Given the description of an element on the screen output the (x, y) to click on. 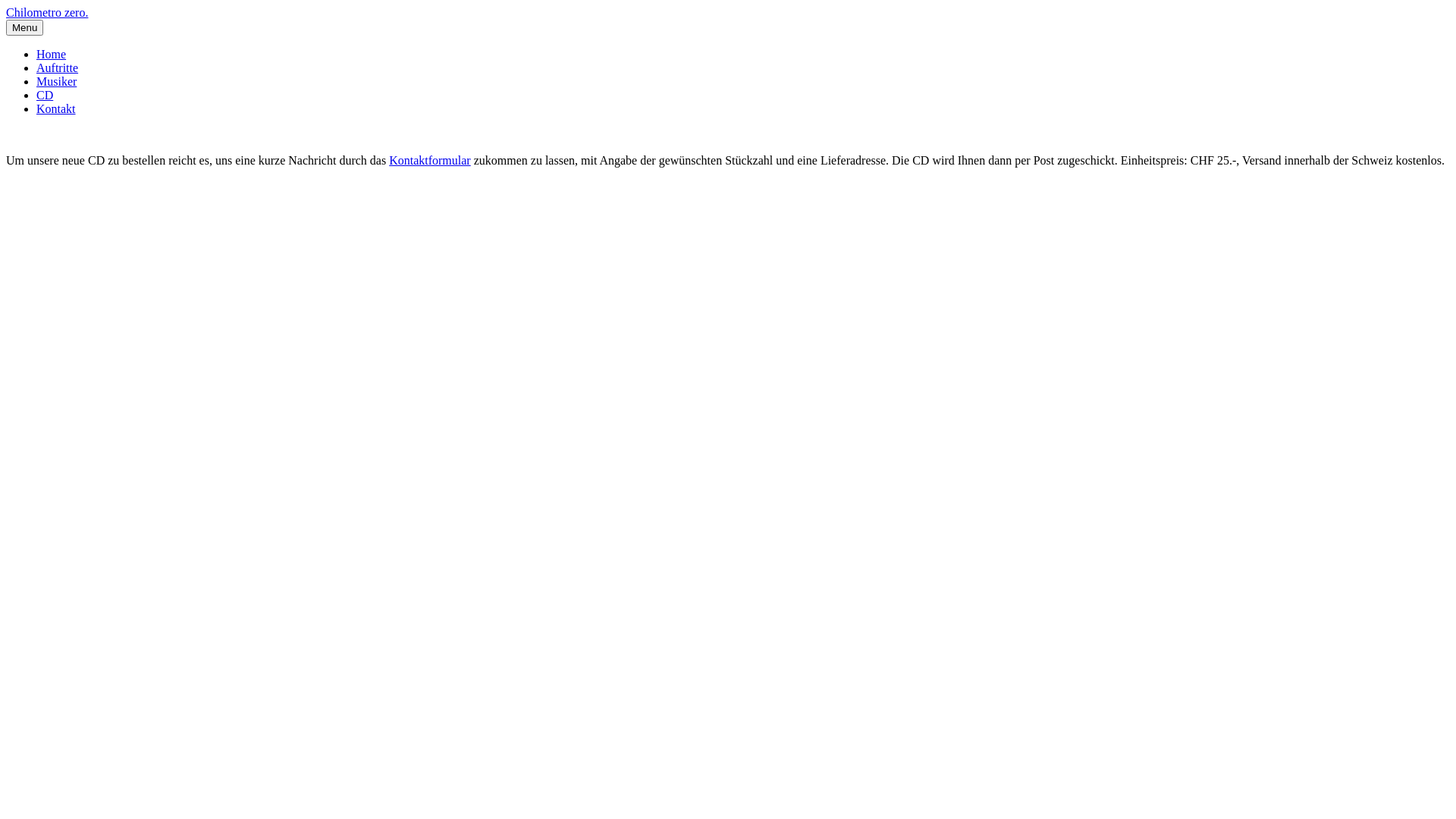
Auftritte Element type: text (57, 67)
Kontakt Element type: text (55, 108)
Home Element type: text (50, 53)
Kontaktformular Element type: text (429, 159)
Menu Element type: text (24, 27)
Musiker Element type: text (56, 81)
CD Element type: text (44, 94)
Chilometro zero. Element type: text (46, 12)
